Given the description of an element on the screen output the (x, y) to click on. 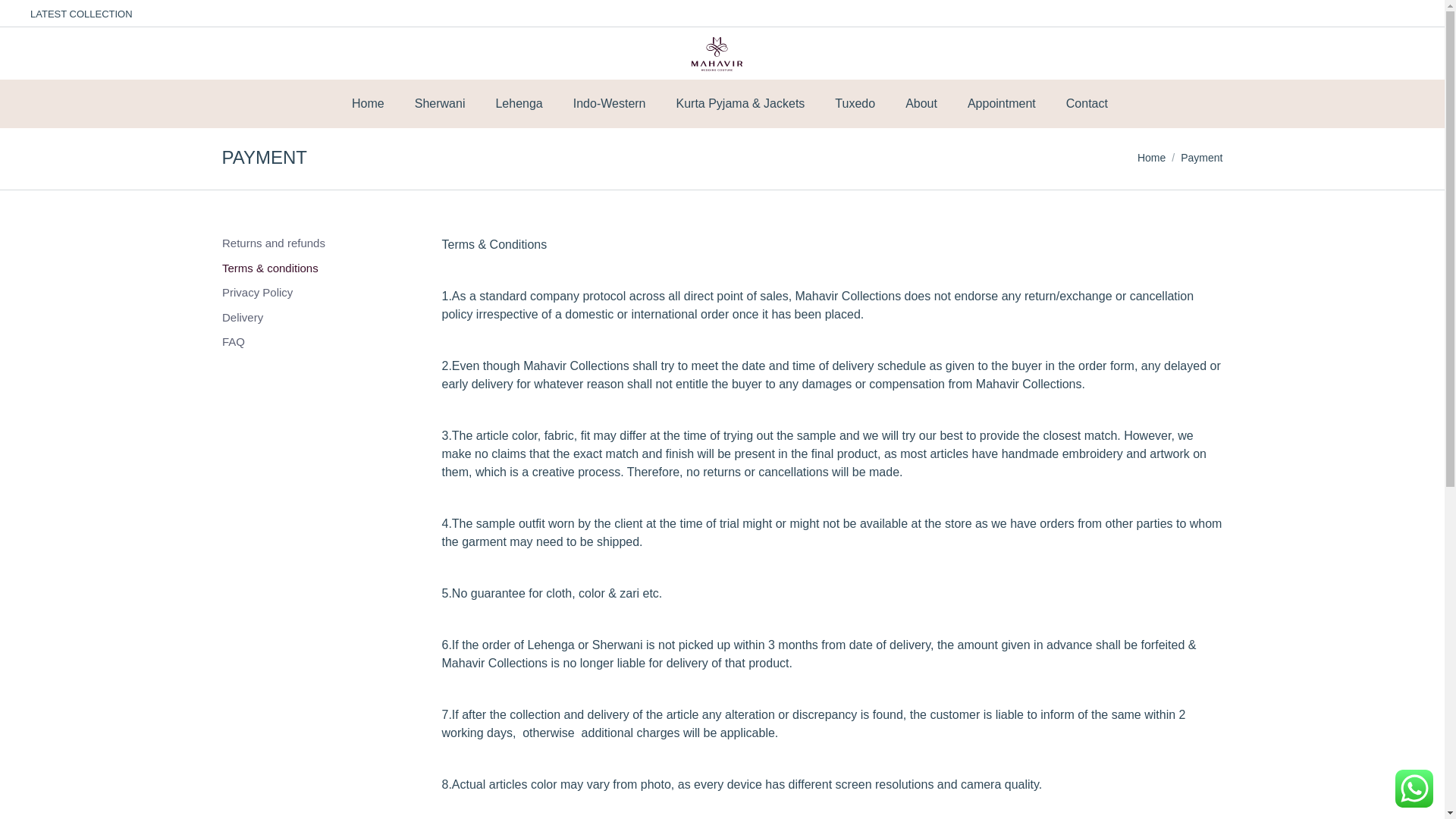
Tuxedo (854, 103)
Appointment (1001, 103)
About (921, 103)
Home (1151, 157)
Contact (1086, 103)
Indo-Western (609, 103)
LATEST COLLECTION (81, 12)
Home (368, 103)
Sherwani (439, 103)
Lehenga (518, 103)
